Given the description of an element on the screen output the (x, y) to click on. 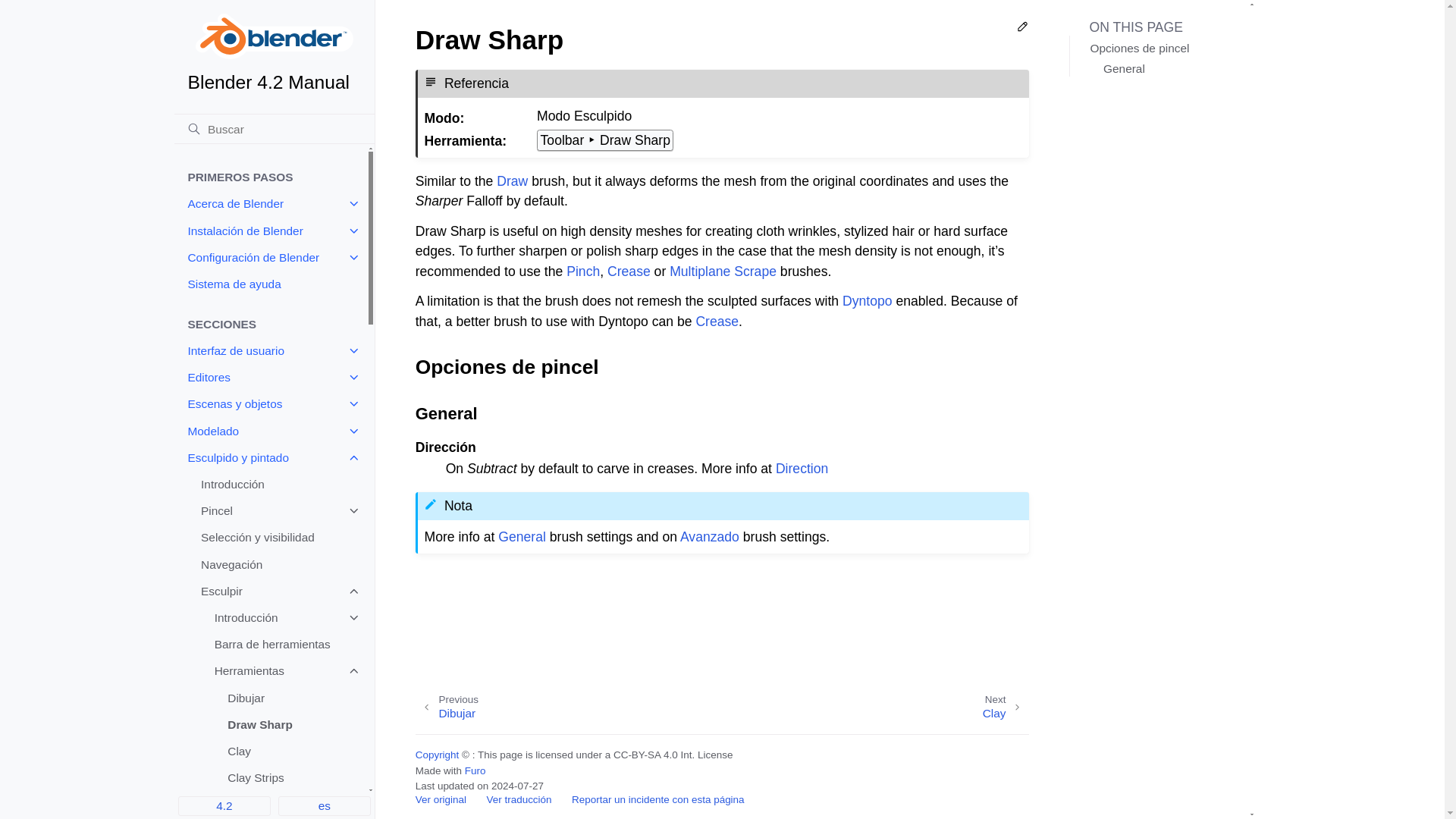
Sistema de ayuda (270, 284)
Edit this page (1022, 28)
Blender 4.2 Manual (274, 53)
Interfaz de usuario (270, 350)
Acerca de Blender (270, 203)
